Given the description of an element on the screen output the (x, y) to click on. 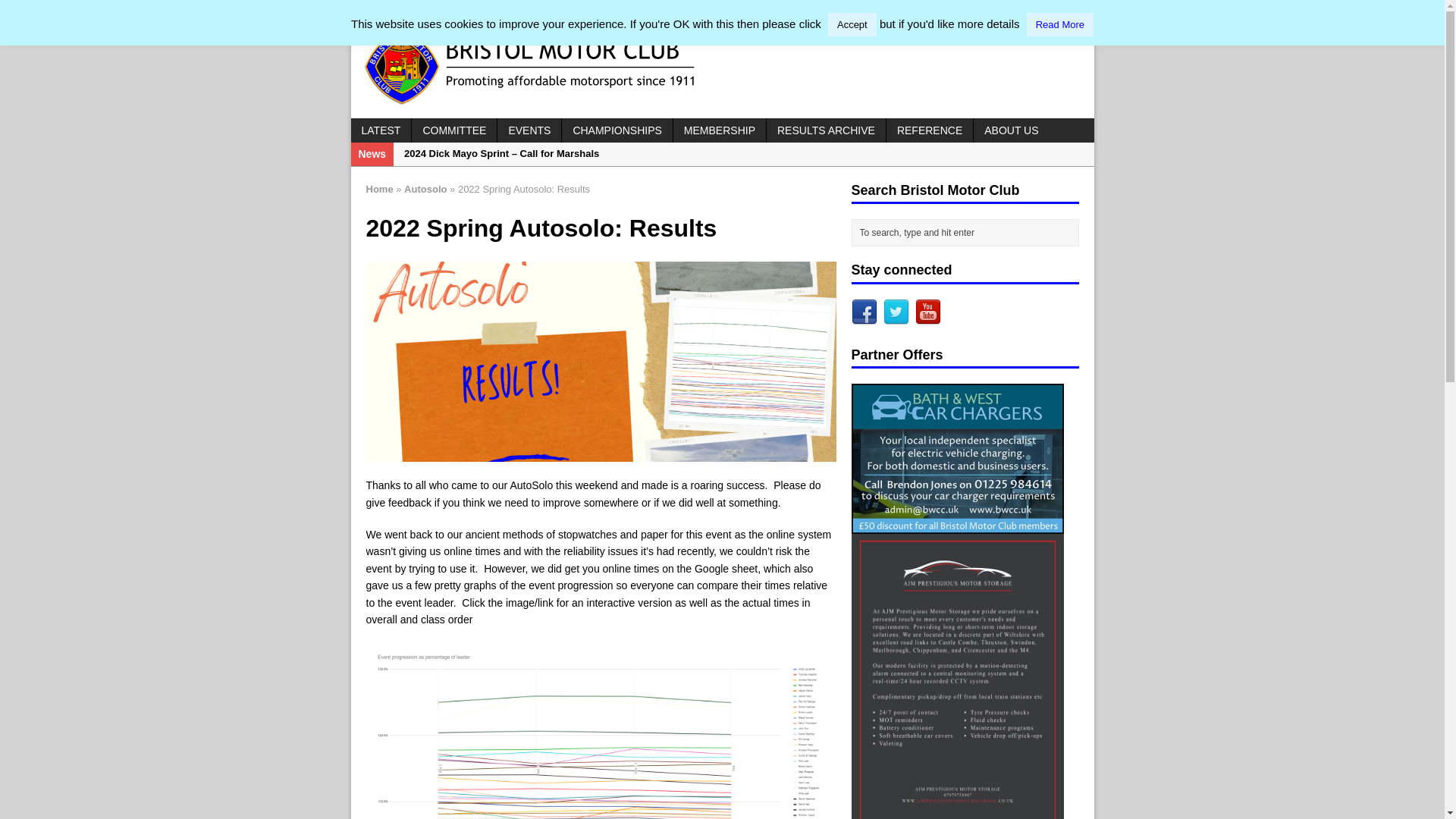
To search, type and hit enter (968, 232)
Bristol Motor Club (721, 66)
AJM Prestigious Motor Storage (956, 817)
Bath West Car Chargers (956, 524)
2022 Spring AutoSolo Results (600, 361)
